Given the description of an element on the screen output the (x, y) to click on. 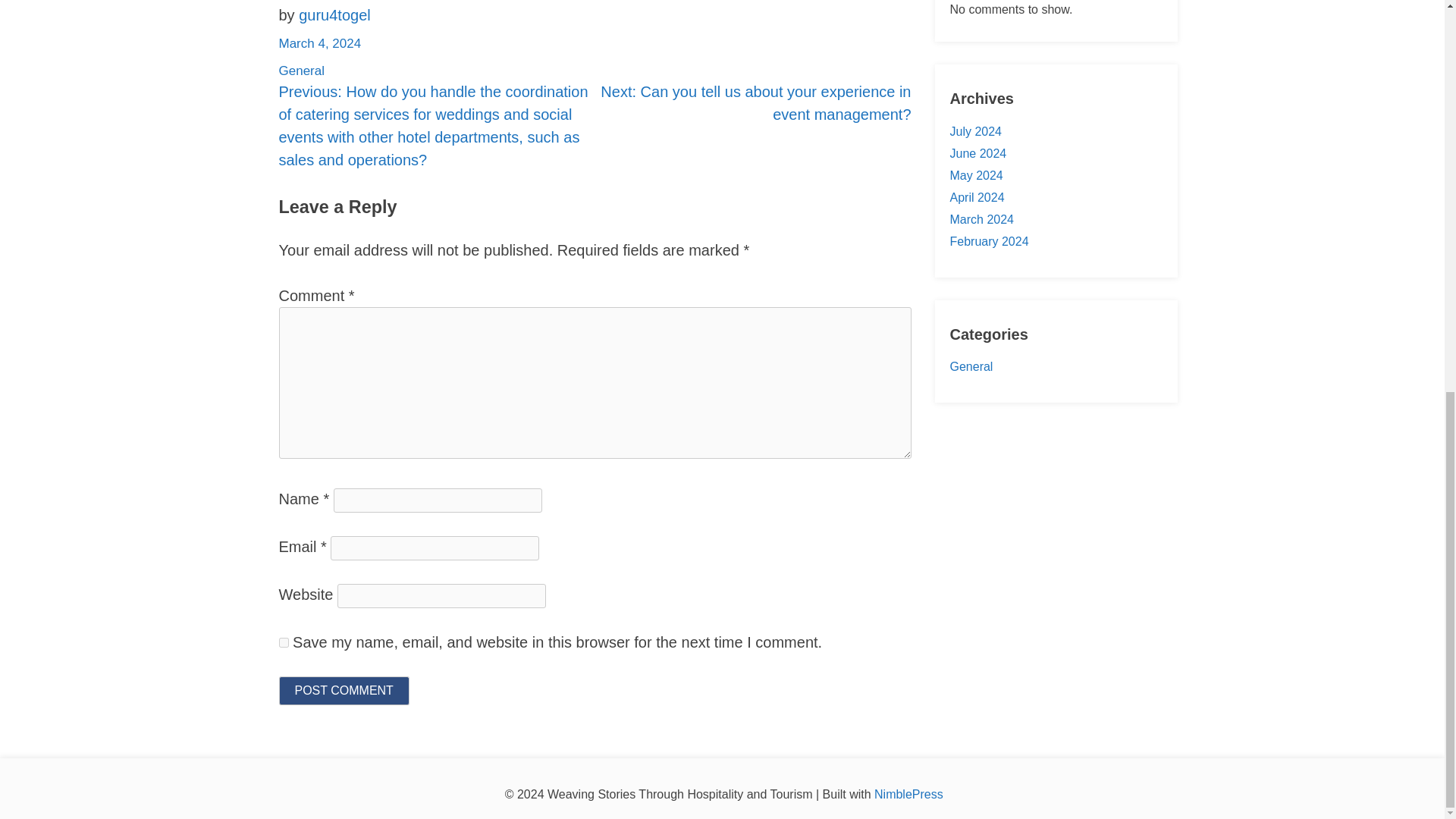
April 2024 (976, 196)
Post Comment (344, 690)
June 2024 (977, 153)
May 2024 (976, 174)
February 2024 (988, 241)
Post Comment (344, 690)
yes (283, 642)
General (301, 70)
